Given the description of an element on the screen output the (x, y) to click on. 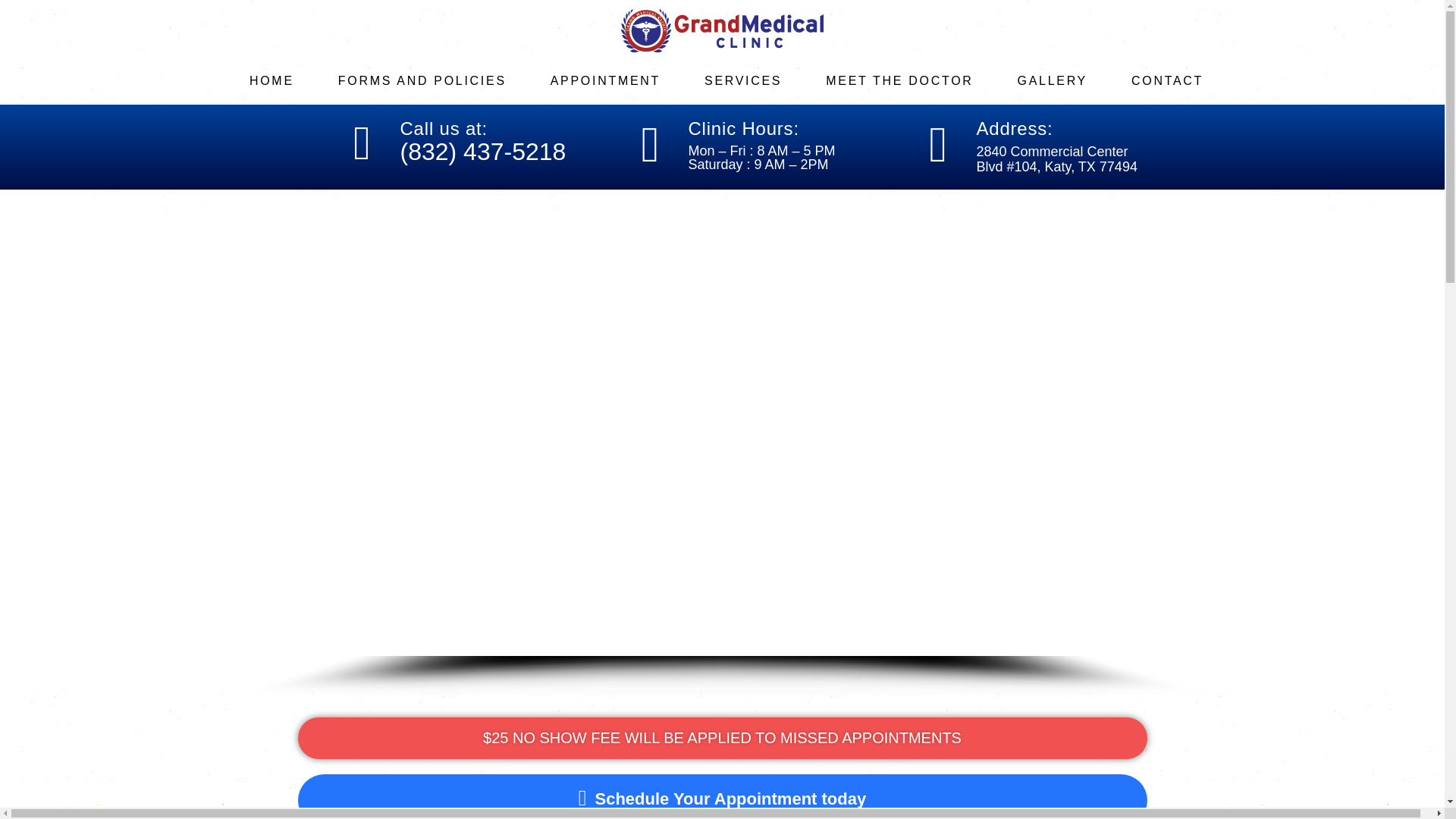
GALLERY (1064, 80)
Schedule Your Appointment today (394, 796)
FORMS AND POLICIES (433, 80)
HOME (282, 80)
CONTACT (1178, 80)
MEET THE DOCTOR (910, 80)
SERVICES (754, 80)
APPOINTMENT (617, 80)
